Given the description of an element on the screen output the (x, y) to click on. 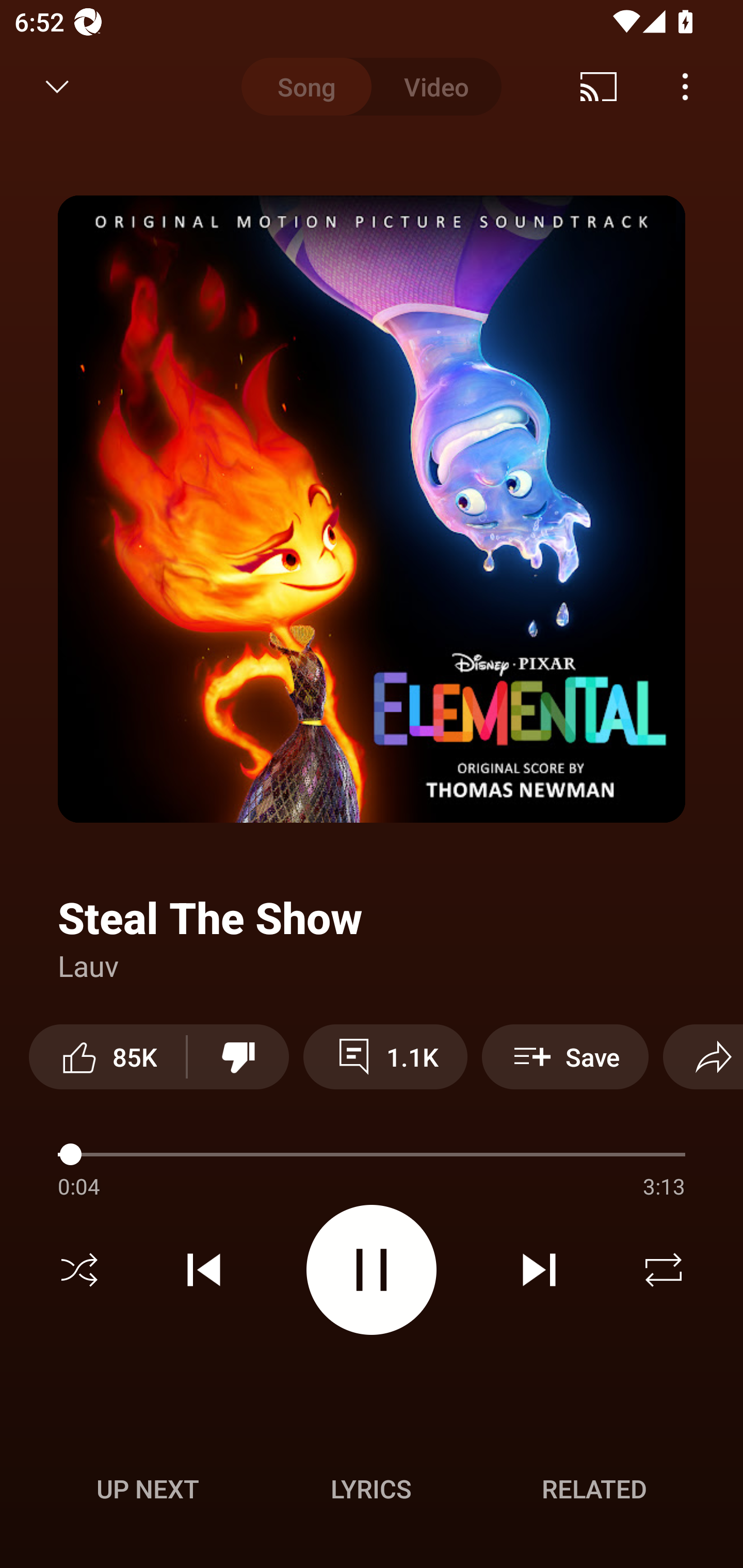
Minimize (57, 86)
Cast. Disconnected (598, 86)
Menu (684, 86)
85K like this video along with 85,792 other people (106, 1056)
Undo dislike (238, 1056)
1.1K View 1,180 comments (385, 1056)
Save Save to playlist (565, 1056)
Share (702, 1056)
Pause video (371, 1269)
Shuffle off (79, 1269)
Previous track (203, 1269)
Next track (538, 1269)
Repeat off (663, 1269)
Up next UP NEXT Lyrics LYRICS Related RELATED (371, 1491)
Lyrics LYRICS (370, 1488)
Related RELATED (594, 1488)
